Given the description of an element on the screen output the (x, y) to click on. 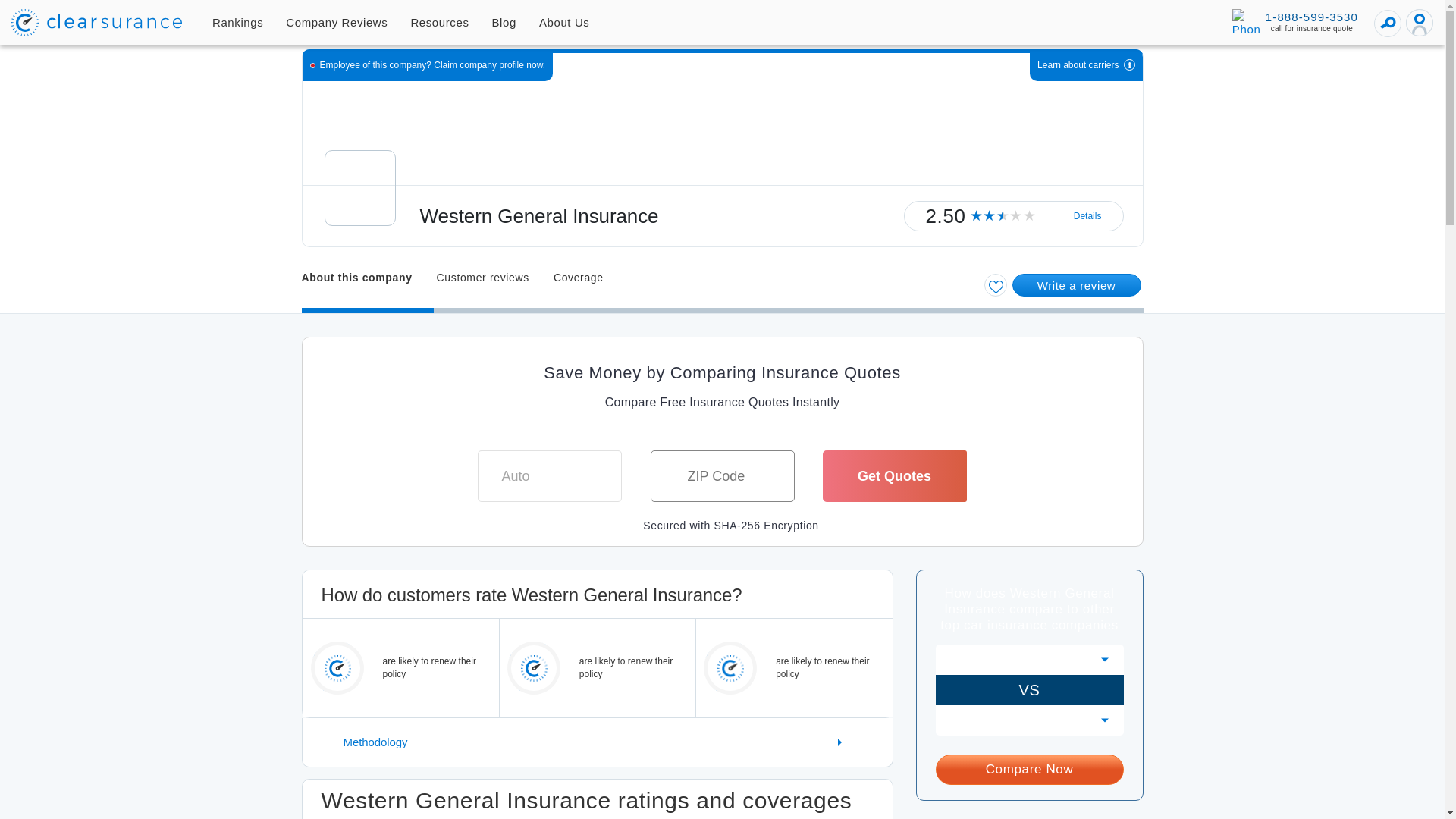
About Us (564, 22)
Get Quotes (894, 476)
Company Reviews (336, 22)
Resources (439, 22)
Home (96, 22)
Rankings (237, 22)
Search (1388, 23)
Call for insurance quote (1294, 22)
